Given the description of an element on the screen output the (x, y) to click on. 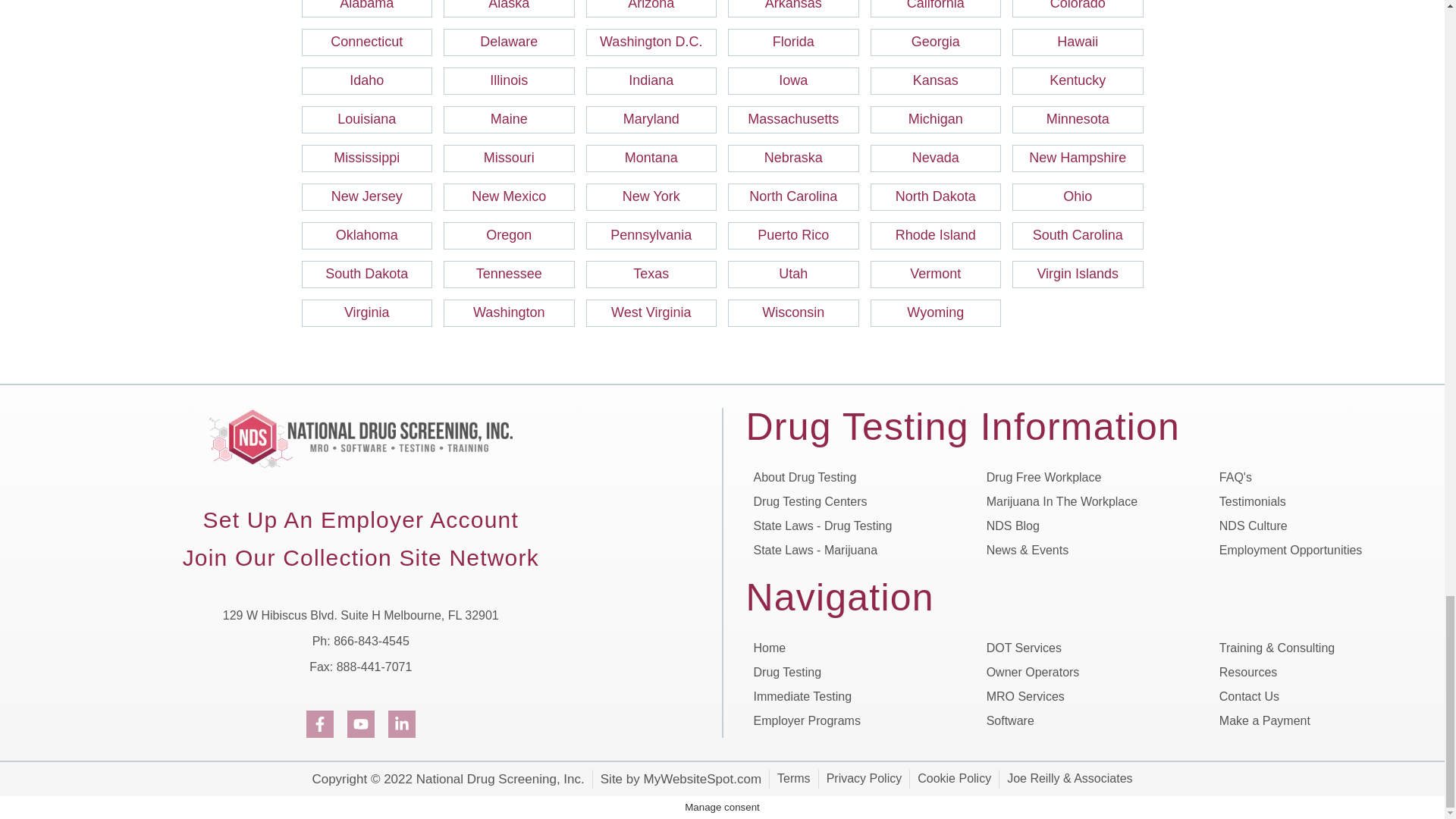
Linked In Icon (401, 723)
Facebook Icon (319, 723)
Return Home (360, 437)
Youtube Icon (360, 723)
